Given the description of an element on the screen output the (x, y) to click on. 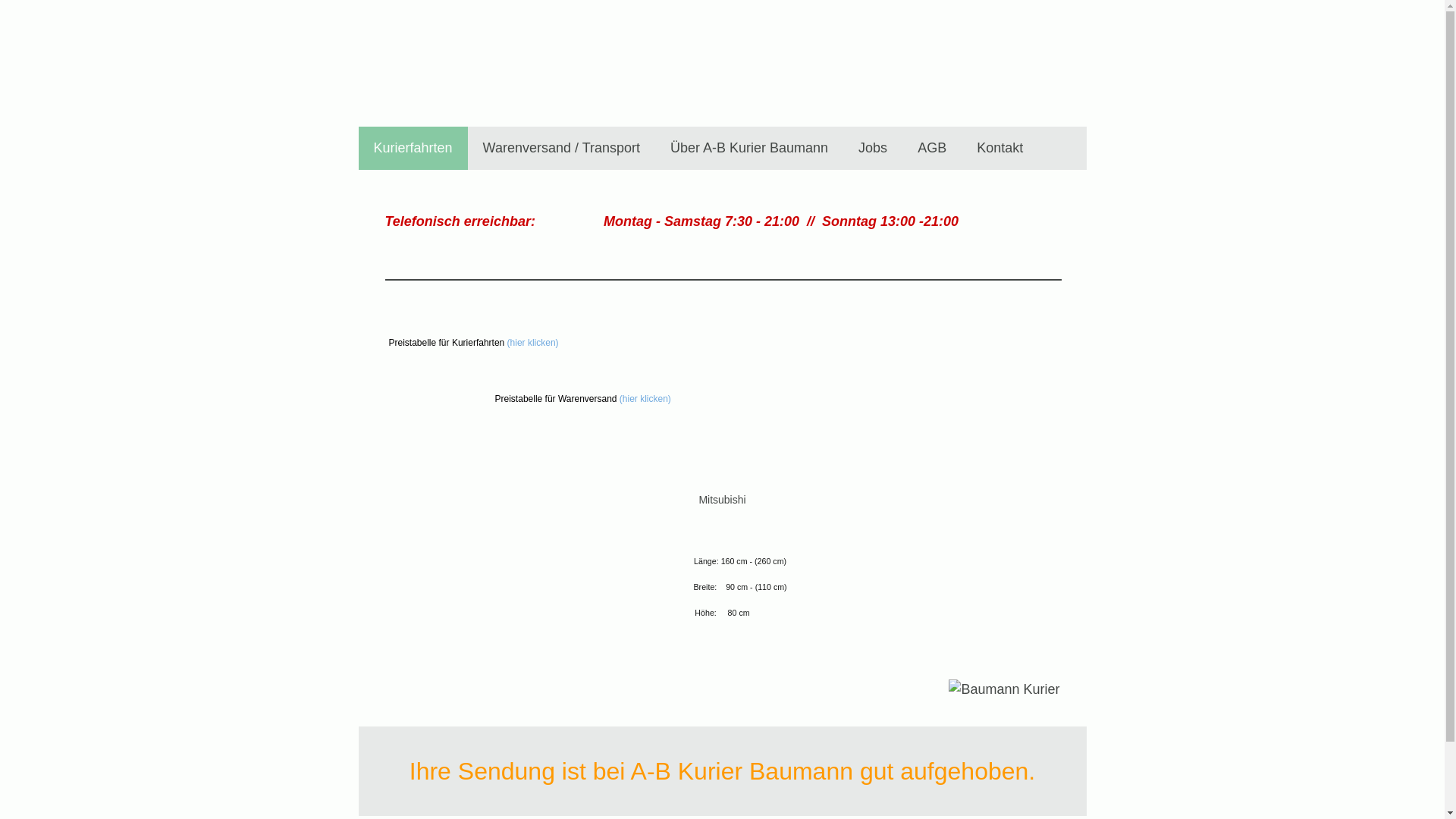
Kurierfahrten Element type: text (412, 147)
Kontakt Element type: text (999, 147)
AGB Element type: text (931, 147)
Warenversand / Transport Element type: text (561, 147)
Jobs Element type: text (872, 147)
